Given the description of an element on the screen output the (x, y) to click on. 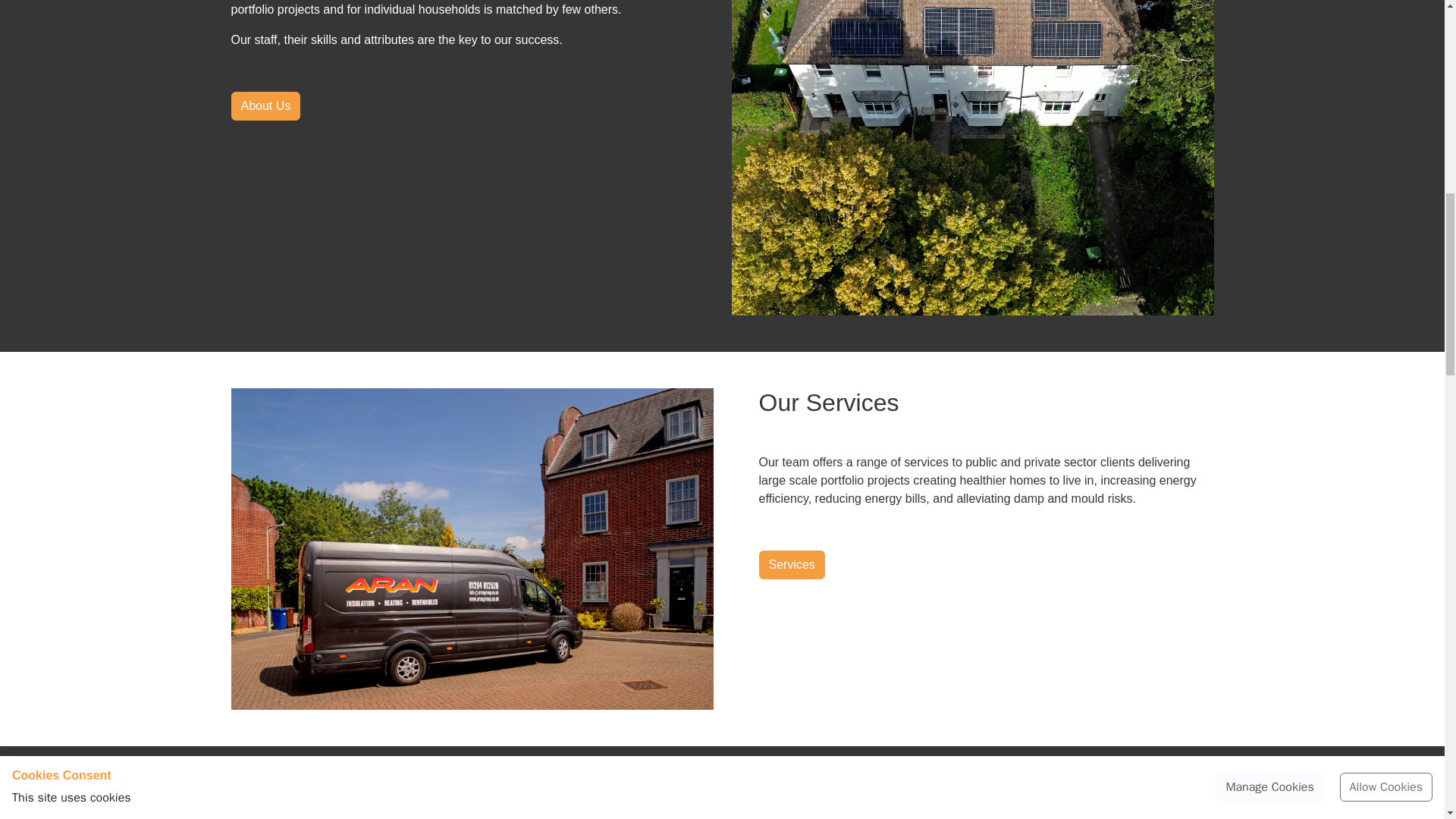
About Us (264, 105)
About Us (264, 105)
Services (791, 564)
Services (791, 564)
